Given the description of an element on the screen output the (x, y) to click on. 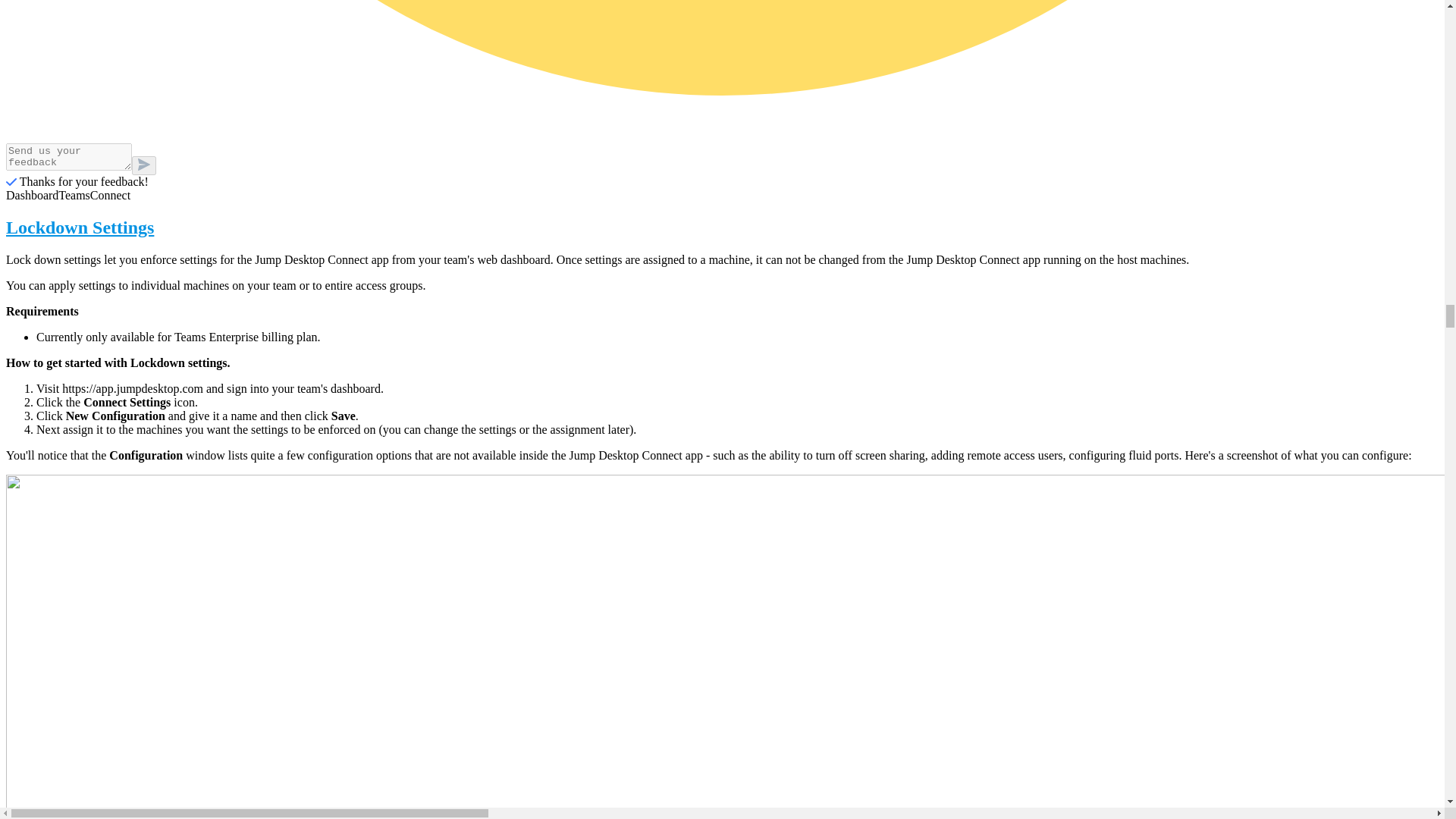
Submit Button (143, 165)
Lockdown Settings (721, 227)
